Given the description of an element on the screen output the (x, y) to click on. 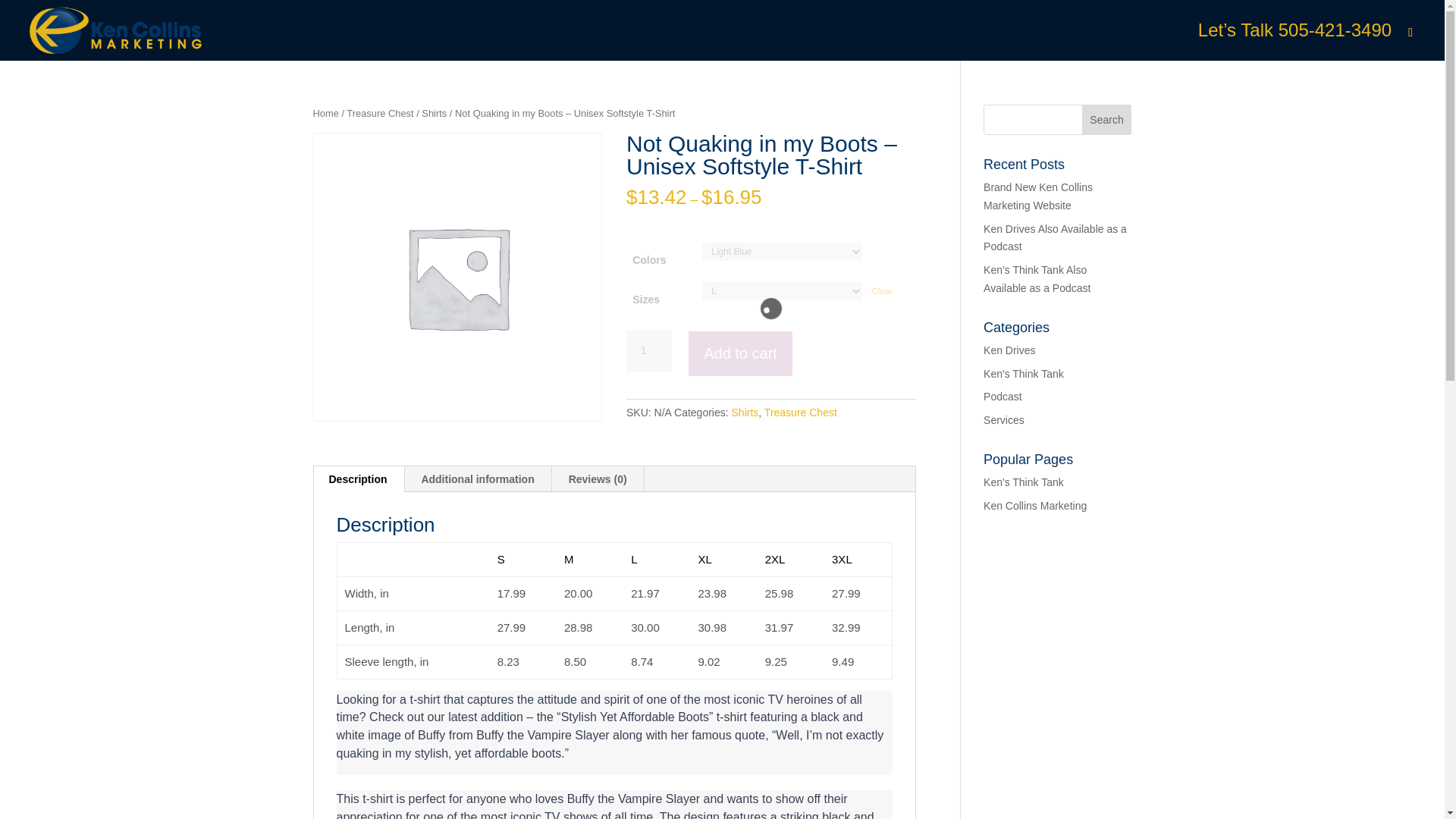
Ken Collins Marketing (1035, 505)
Shirts (434, 112)
Treasure Chest (379, 112)
Search (1106, 119)
Ken's Think Tank (1024, 481)
Clear (881, 290)
Shirts (745, 412)
Search (1106, 119)
Add to cart (740, 353)
Home (325, 112)
